Given the description of an element on the screen output the (x, y) to click on. 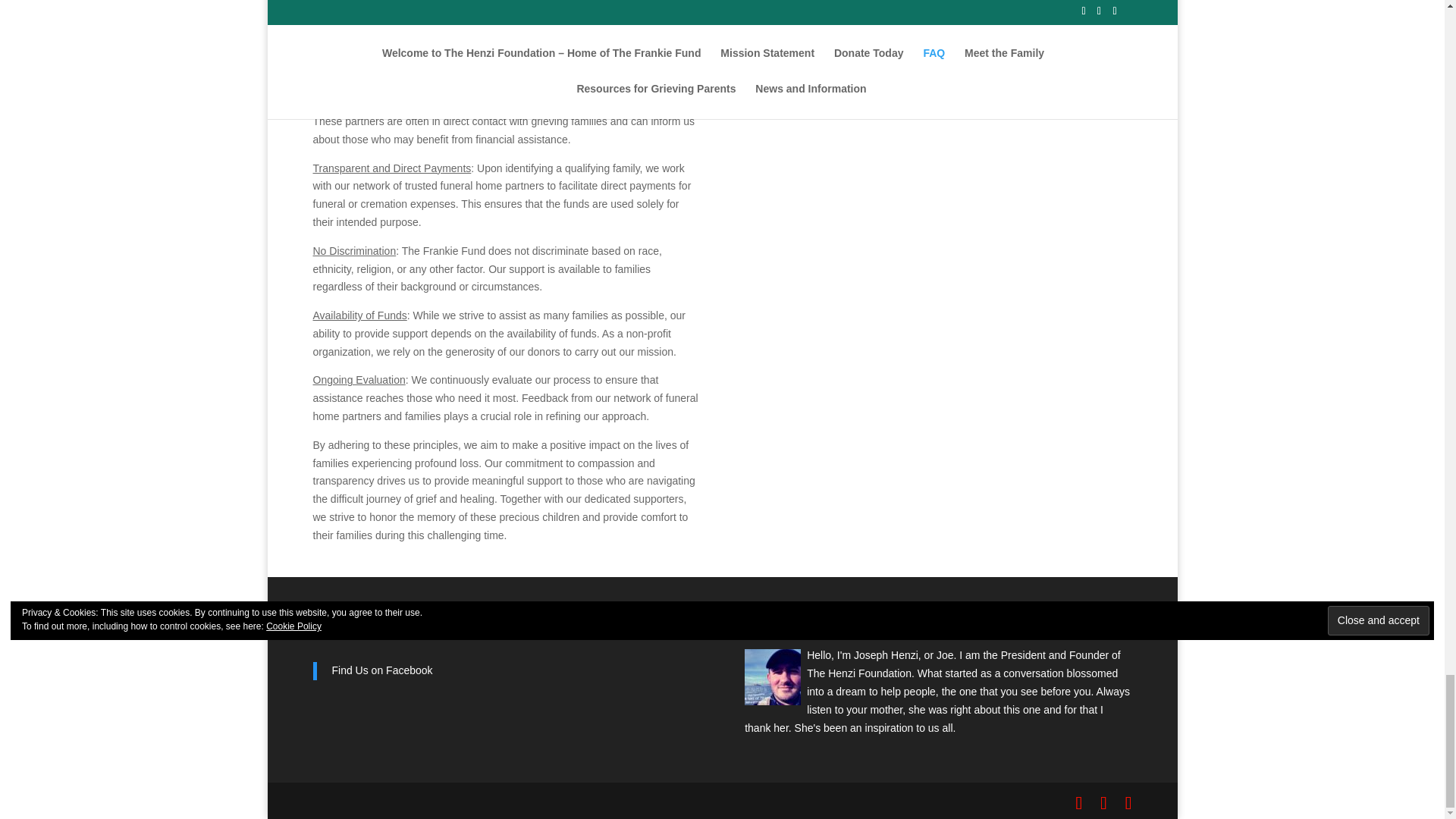
Find Us on Facebook (377, 631)
Find Us on Facebook (381, 670)
